Given the description of an element on the screen output the (x, y) to click on. 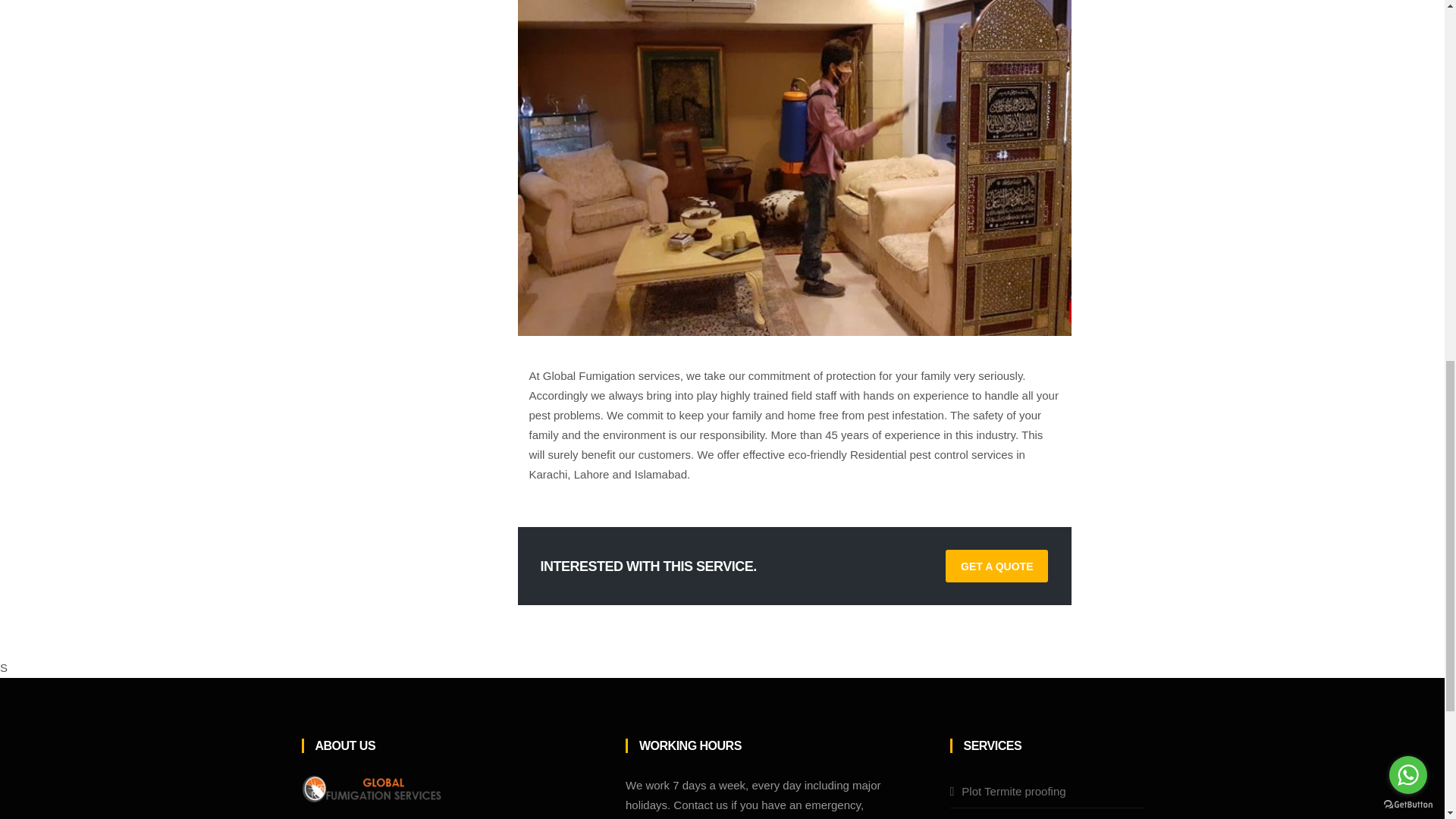
Wooden Pallets Fumigation (1031, 818)
Plot Termite proofing (1012, 790)
GET A QUOTE (996, 565)
